Given the description of an element on the screen output the (x, y) to click on. 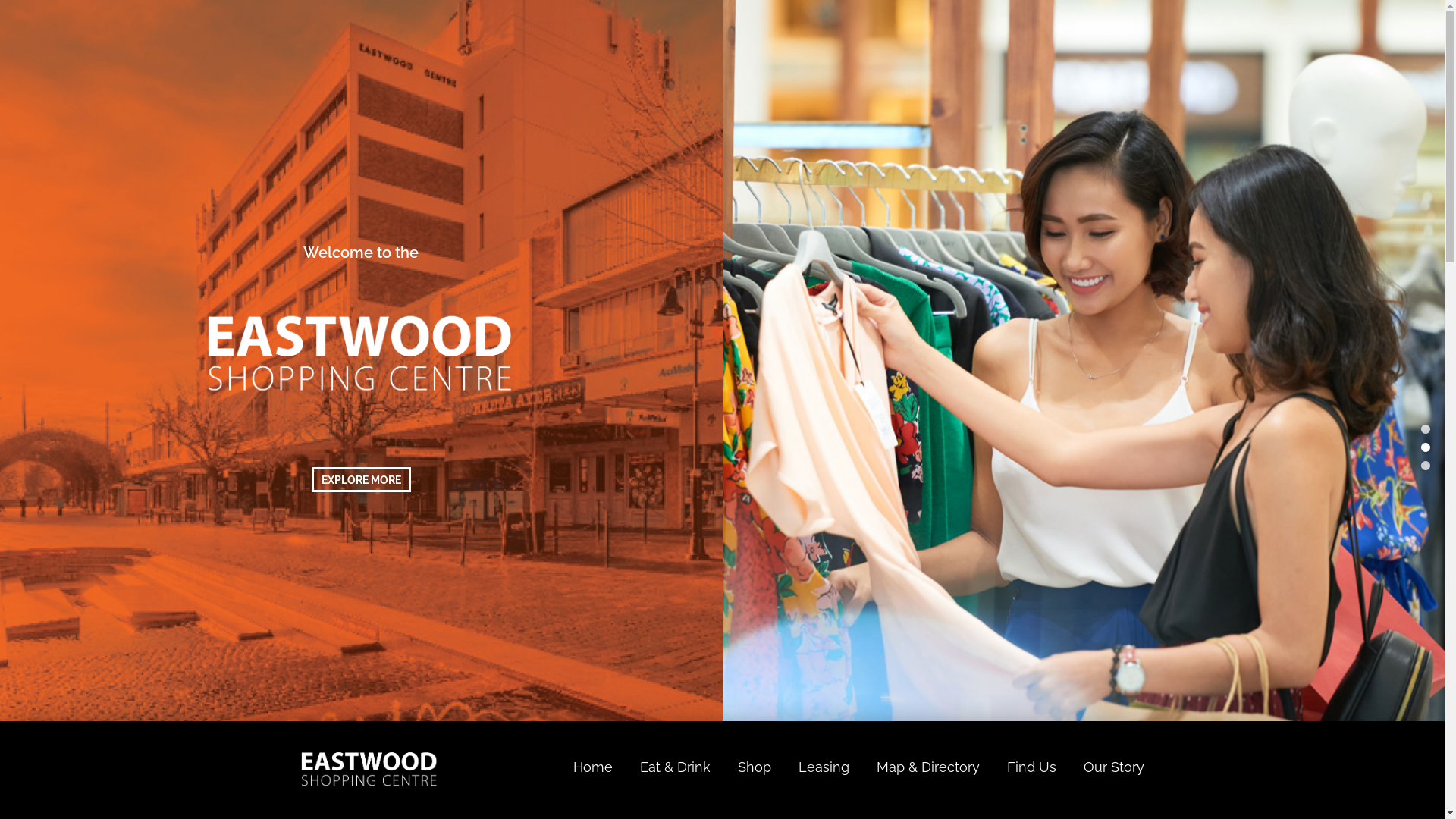
Leasing Element type: text (822, 767)
Home Element type: text (592, 767)
Eat & Drink Element type: text (674, 767)
Shop Element type: text (753, 767)
Our Story Element type: text (1112, 767)
Map & Directory Element type: text (927, 767)
EXPLORE MORE Element type: text (361, 479)
Find Us Element type: text (1031, 767)
